Given the description of an element on the screen output the (x, y) to click on. 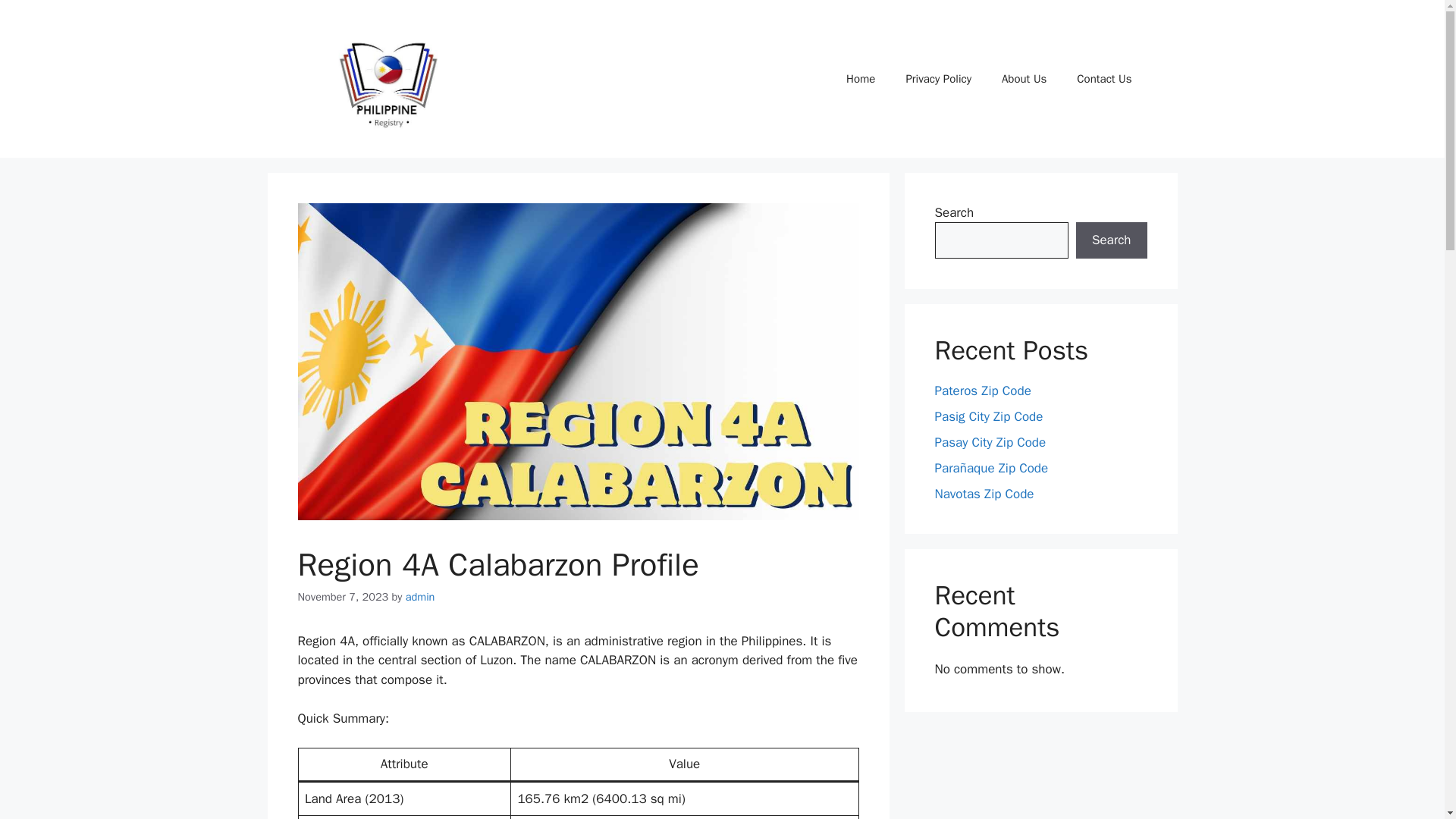
admin (420, 596)
Pateros Zip Code (982, 390)
About Us (1024, 78)
Contact Us (1104, 78)
Search (1111, 239)
View all posts by admin (420, 596)
Privacy Policy (938, 78)
Pasig City Zip Code (988, 416)
Pasay City Zip Code (989, 442)
Navotas Zip Code (983, 494)
